Given the description of an element on the screen output the (x, y) to click on. 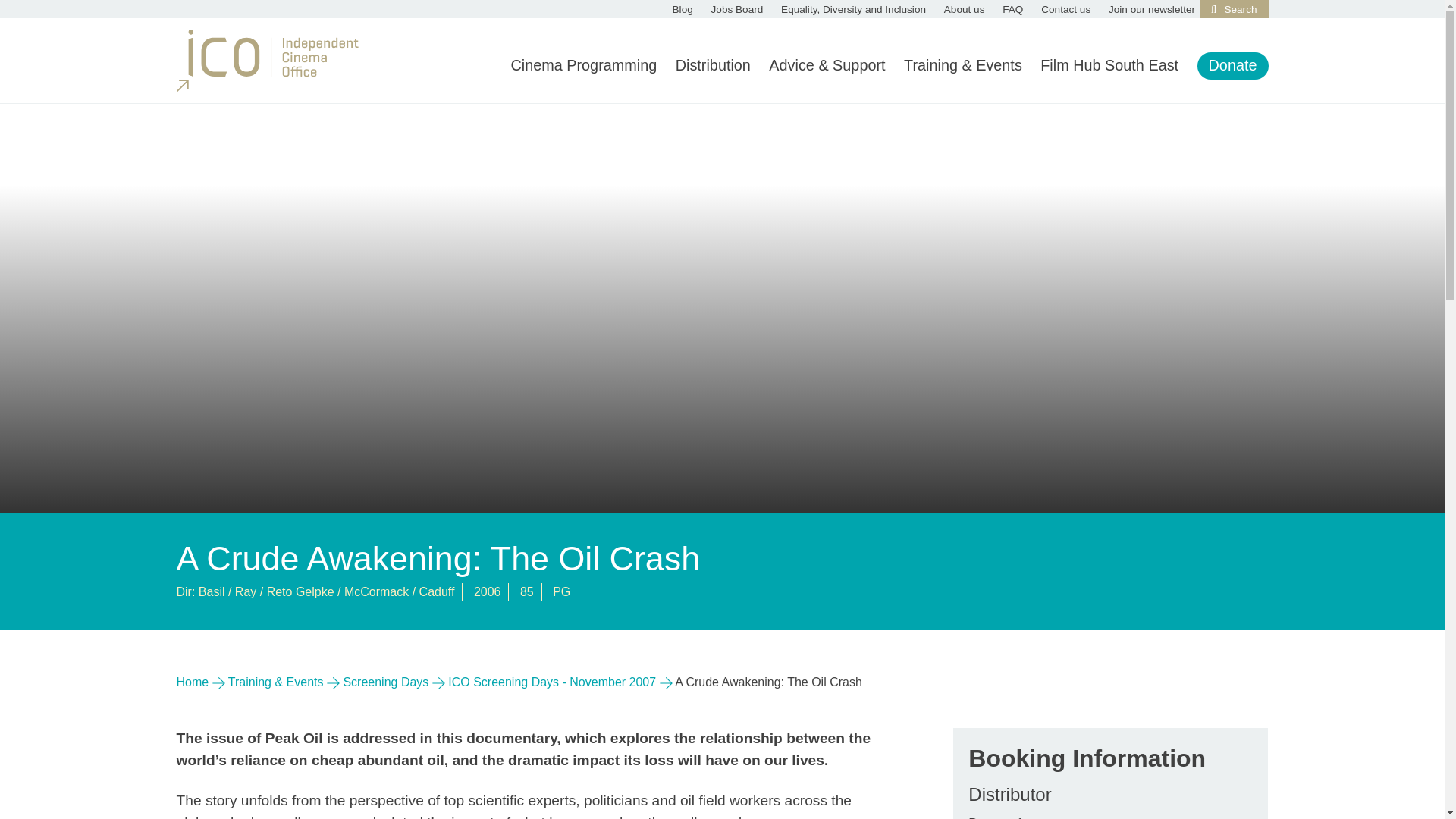
FAQ (1013, 9)
About us (964, 9)
Join our newsletter (1151, 9)
Jobs Board (736, 9)
Donate (1232, 64)
Contact us (1065, 9)
Distribution (713, 64)
Equality, Diversity and Inclusion (853, 9)
Blog (682, 9)
Cinema Programming (583, 64)
